Given the description of an element on the screen output the (x, y) to click on. 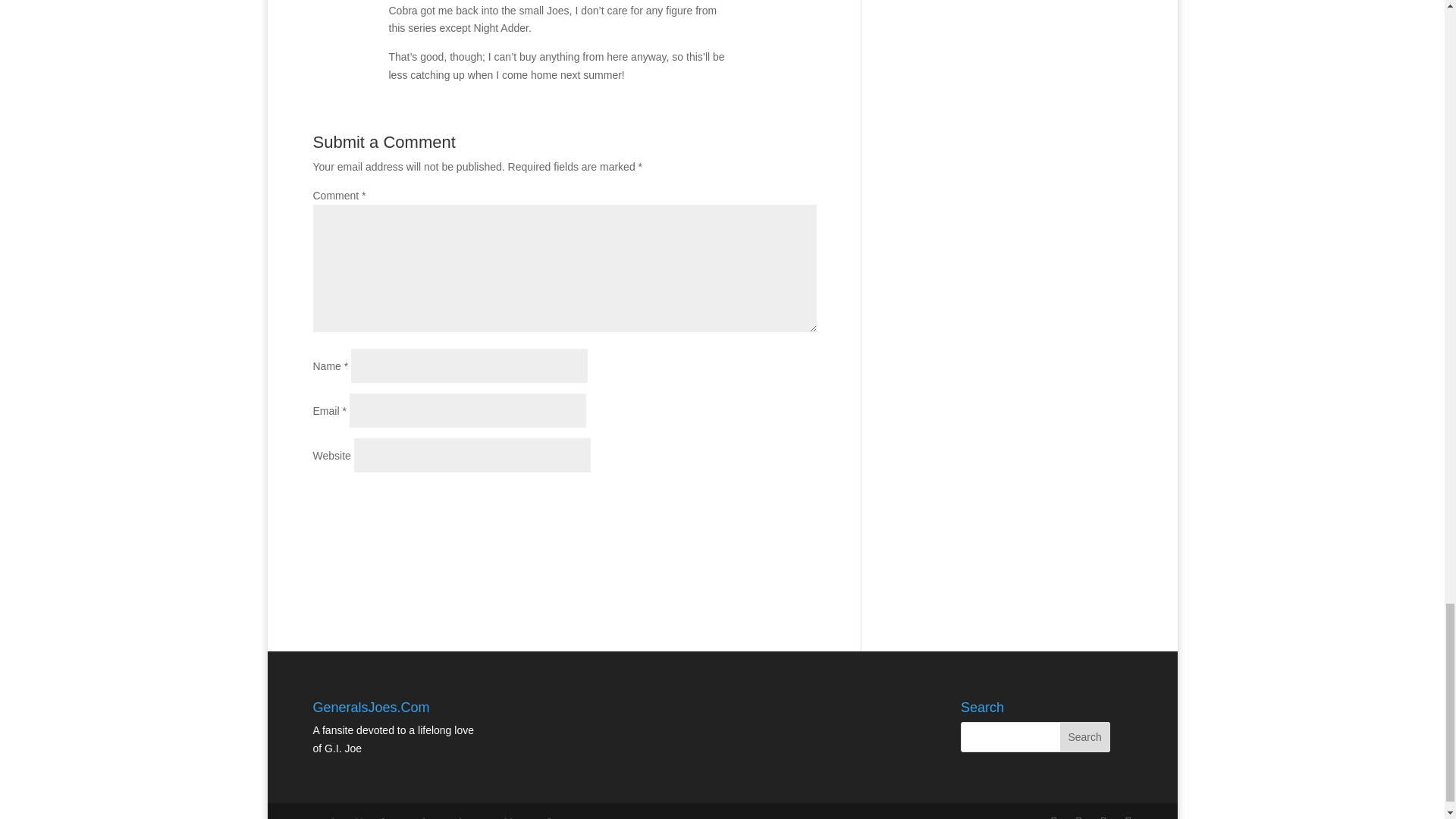
Premium WordPress Themes (414, 817)
Submit Comment (740, 501)
Search (1084, 736)
